Given the description of an element on the screen output the (x, y) to click on. 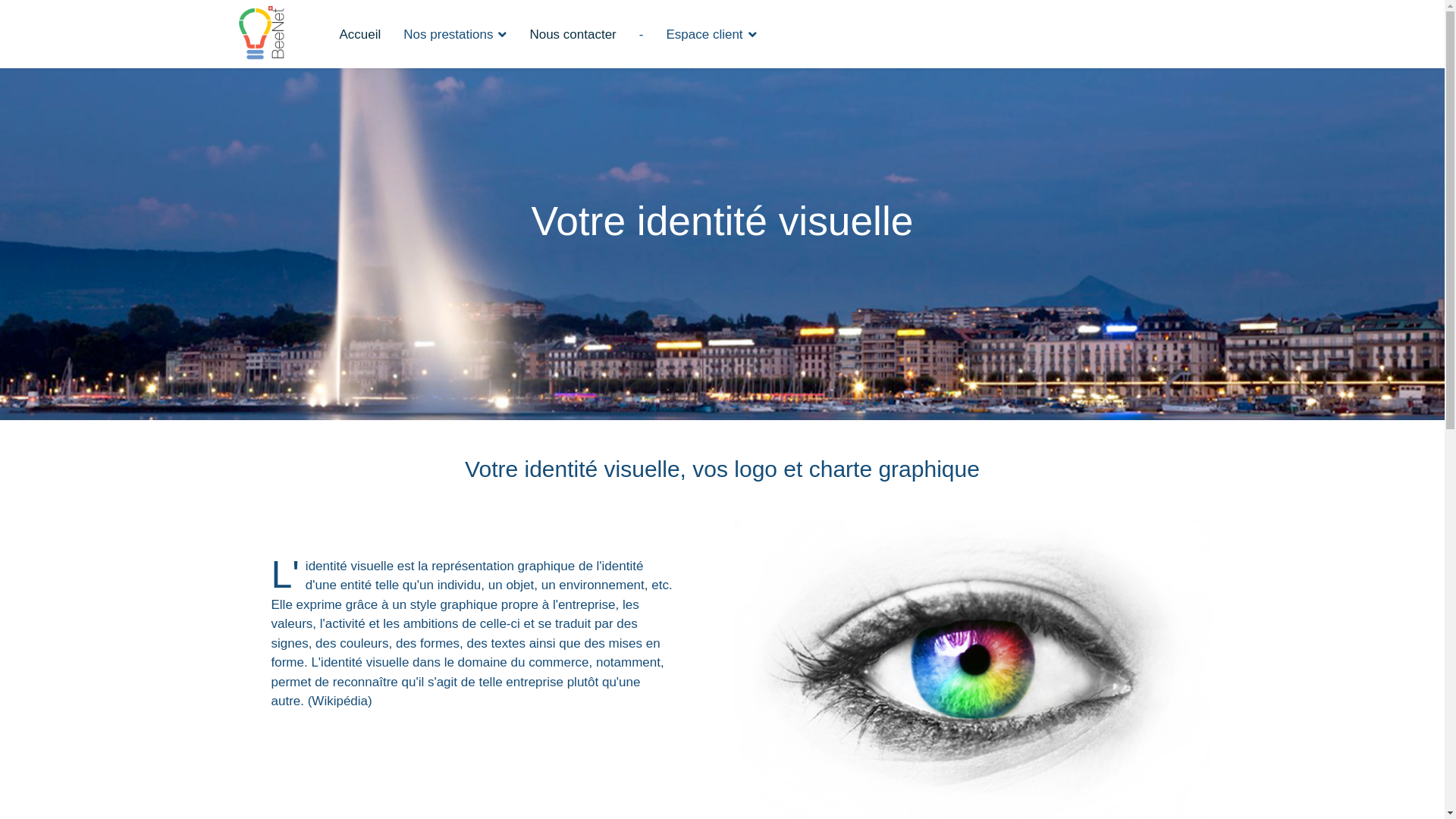
Nous contacter Element type: text (572, 34)
Accueil Element type: text (359, 34)
